Given the description of an element on the screen output the (x, y) to click on. 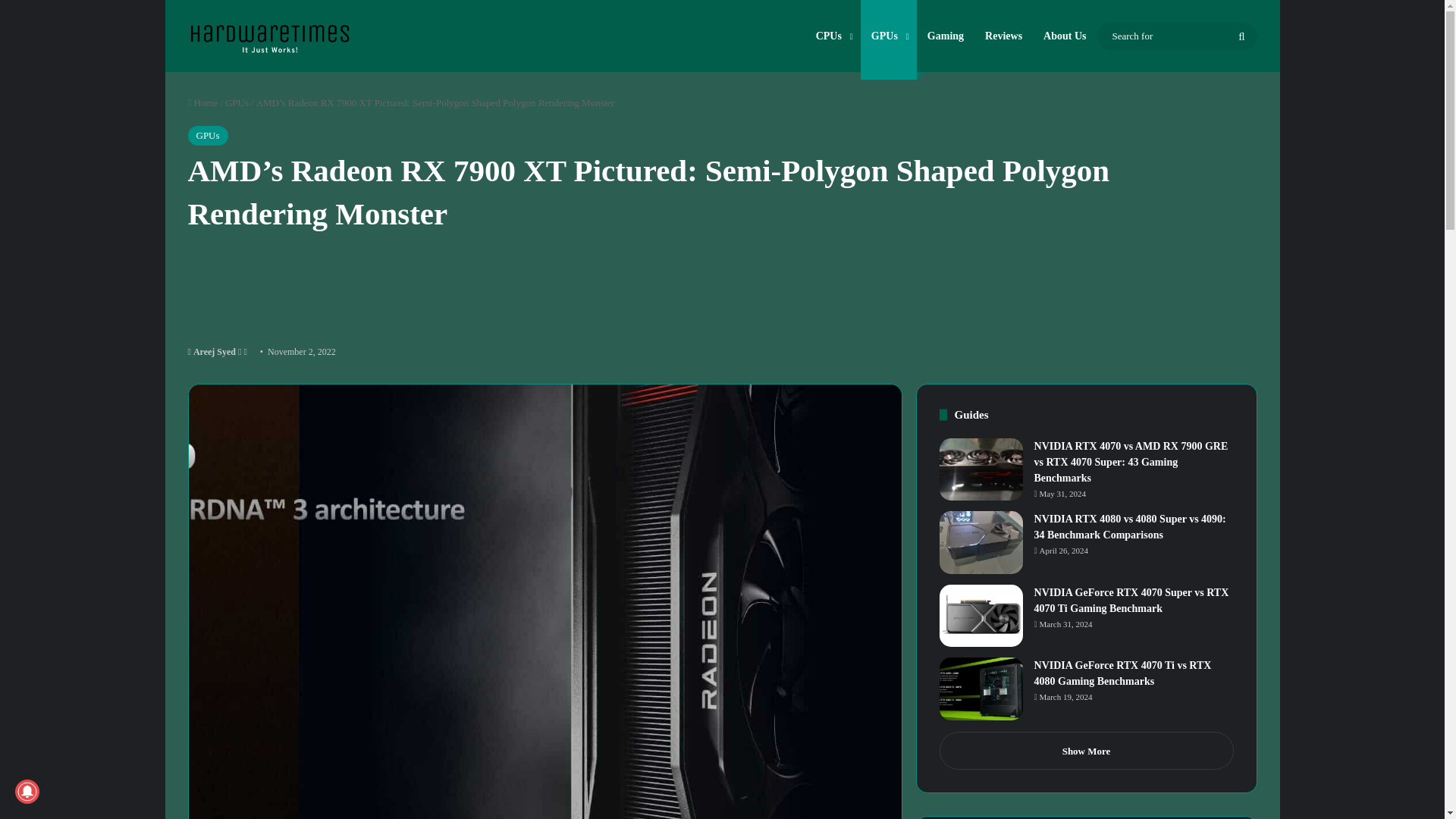
Search for (1176, 36)
Areej Syed (211, 351)
GPUs (207, 135)
Areej Syed (211, 351)
Search for (1242, 35)
Home (202, 102)
GPUs (236, 102)
Hardware Times (268, 34)
